Given the description of an element on the screen output the (x, y) to click on. 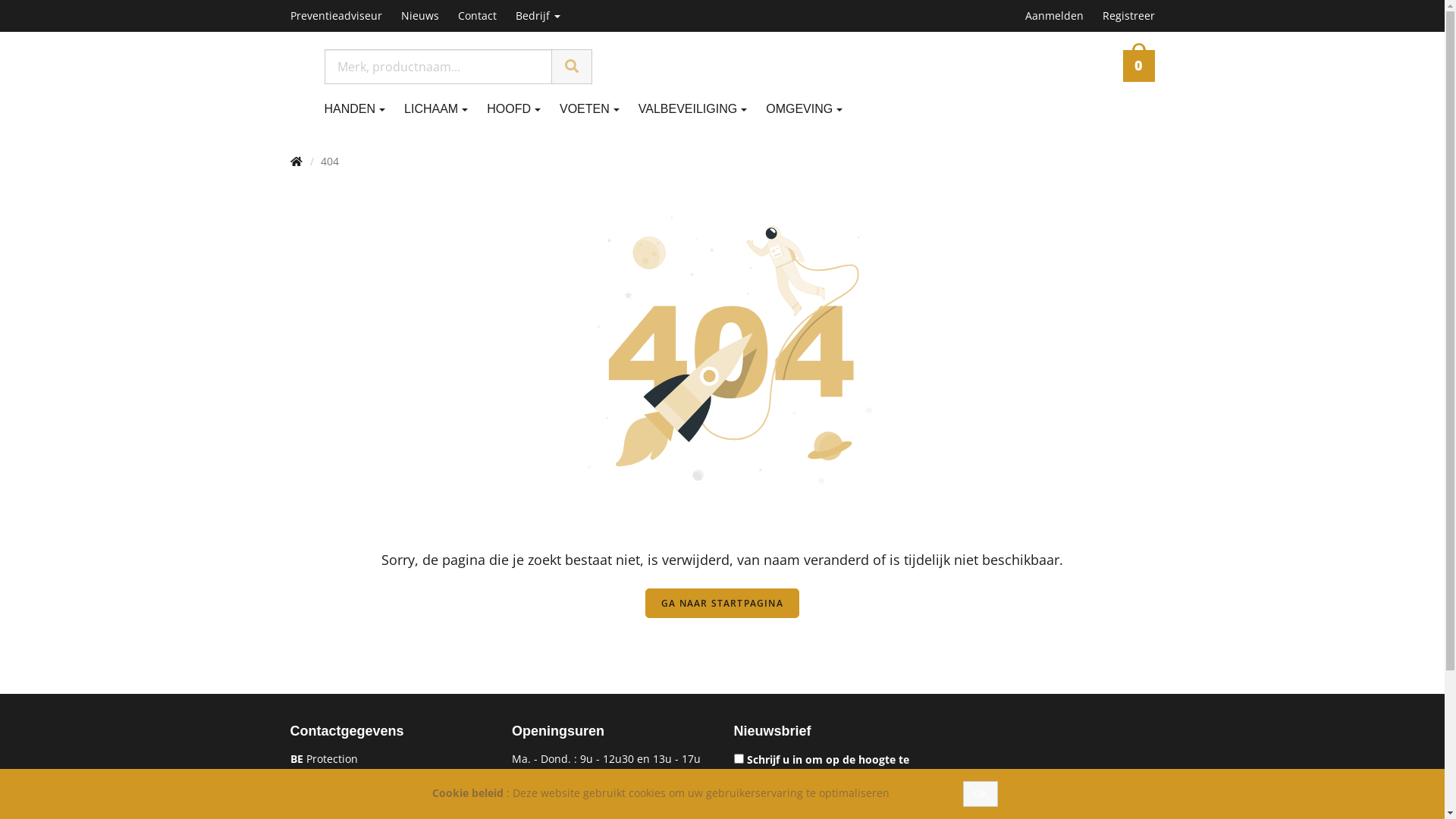
Bedrijf Element type: text (547, 15)
Contact Element type: text (486, 15)
HOOFD Element type: text (522, 109)
Preventieadviseur Element type: text (344, 15)
VOETEN Element type: text (598, 109)
Schrijf in! Element type: text (900, 799)
Aanmelden Element type: text (1056, 15)
GA NAAR STARTPAGINA Element type: text (722, 603)
OMGEVING Element type: text (813, 109)
Meer info Element type: text (925, 792)
VALBEVEILIGING Element type: text (701, 109)
Nieuws Element type: text (428, 15)
Registreer Element type: text (1130, 15)
HANDEN Element type: text (364, 109)
LICHAAM Element type: text (445, 109)
OK Element type: text (980, 793)
